Given the description of an element on the screen output the (x, y) to click on. 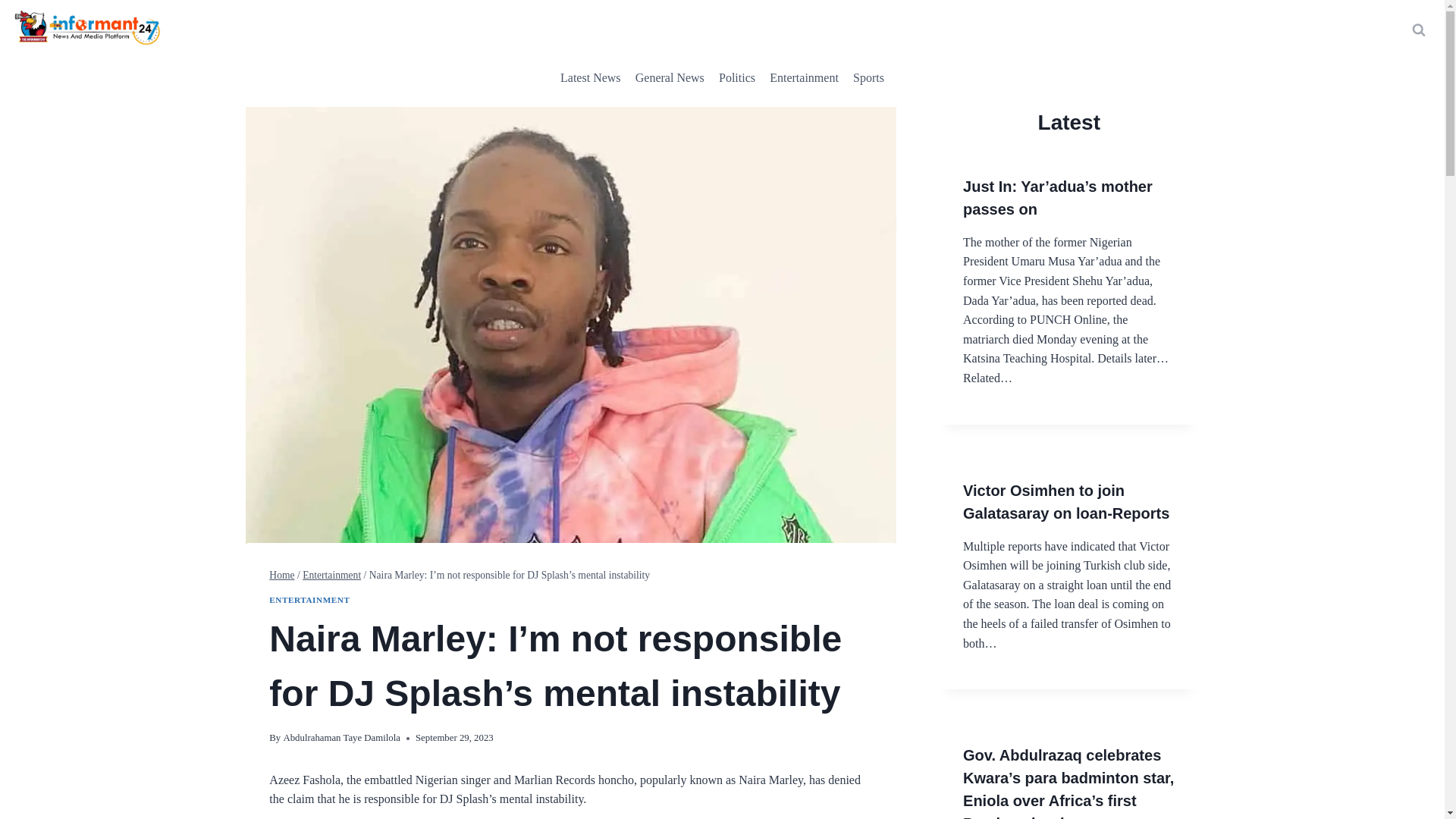
Politics (736, 77)
Latest News (590, 77)
Entertainment (331, 574)
Latest News (590, 77)
Sports (868, 77)
ENTERTAINMENT (309, 599)
Naija Gist (803, 77)
Home (281, 574)
Abdulrahaman Taye Damilola (341, 737)
General Nigeria News (669, 77)
